Given the description of an element on the screen output the (x, y) to click on. 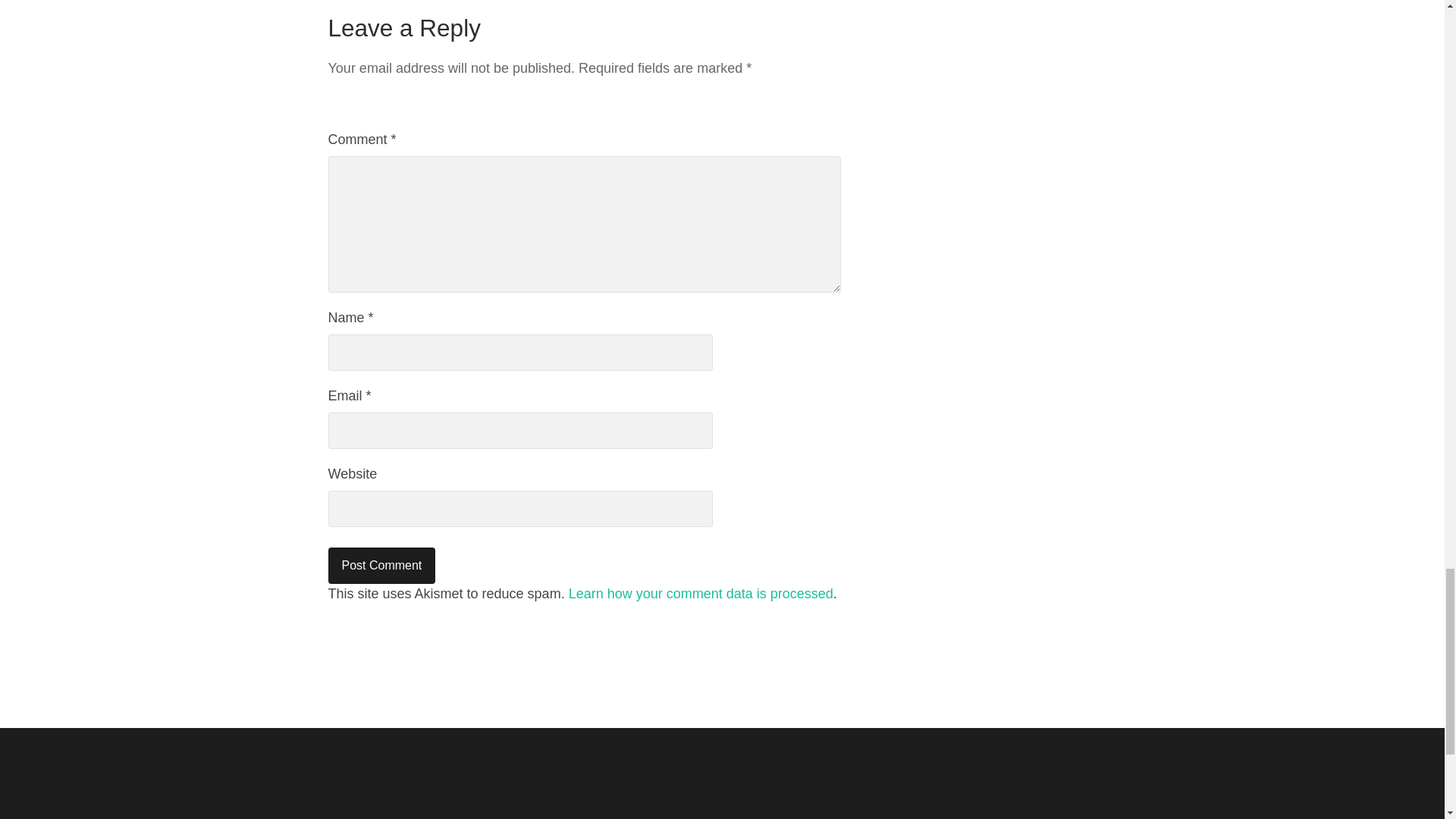
Post Comment (381, 565)
